Given the description of an element on the screen output the (x, y) to click on. 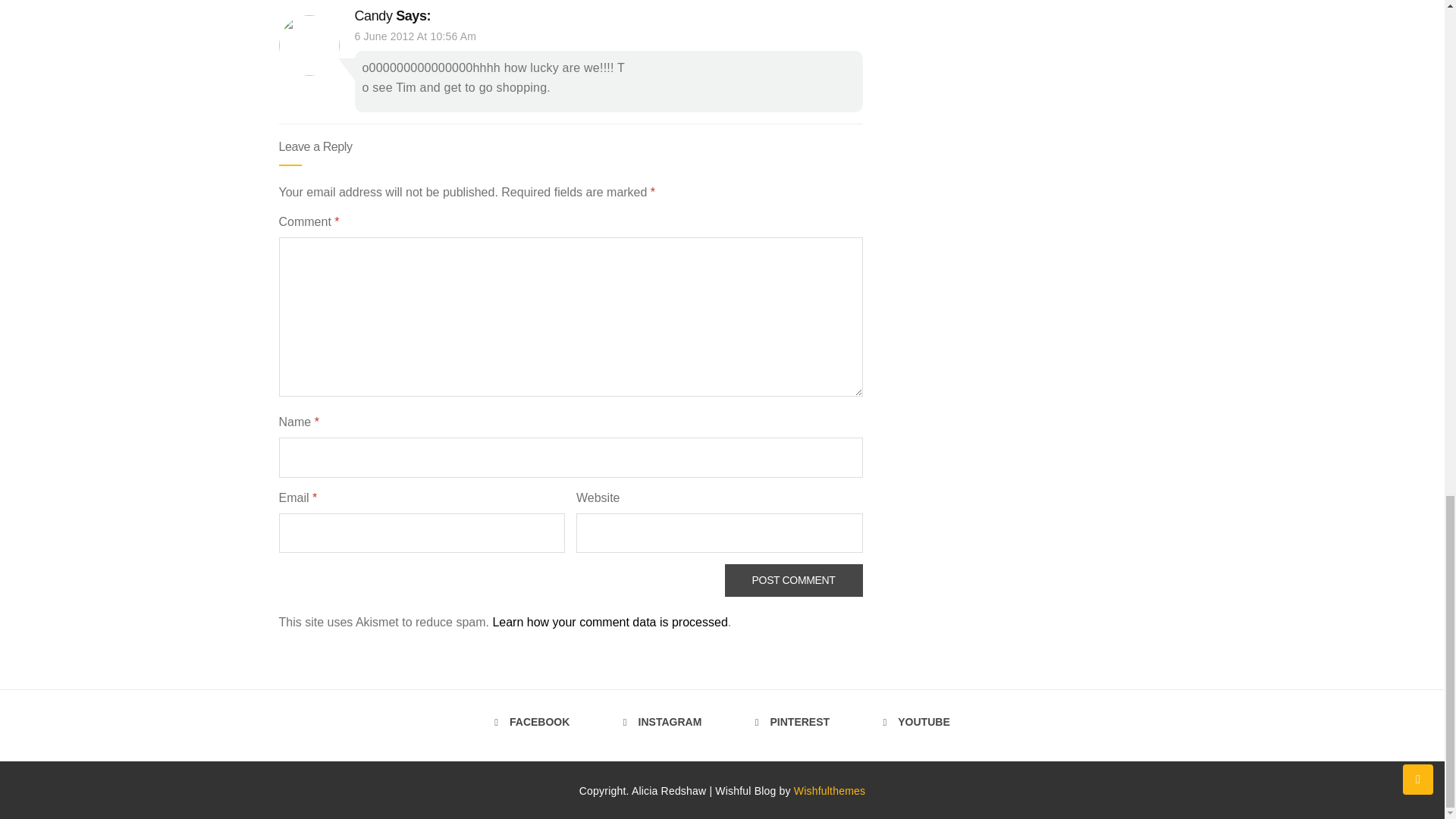
6 June 2012 At 10:56 Am (416, 36)
Youtube (916, 721)
Post Comment (794, 580)
Instagram (662, 721)
Pinterest (792, 721)
Post Comment (794, 580)
Facebook (532, 721)
